Given the description of an element on the screen output the (x, y) to click on. 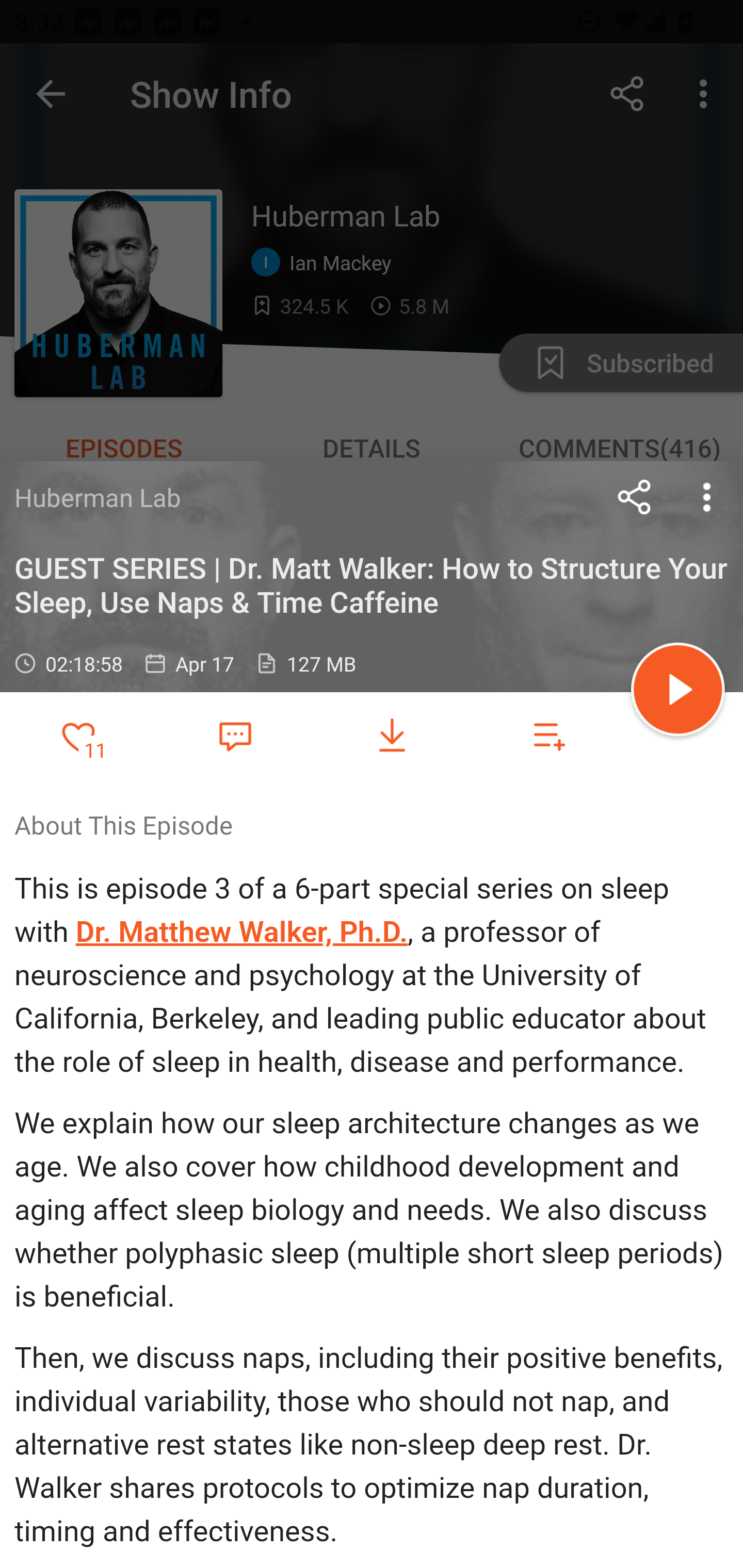
Share (634, 496)
more options (706, 496)
Play (677, 692)
Favorite (234, 735)
Add to Favorites (78, 735)
Download (391, 735)
Add to playlist (548, 735)
Dr. Matthew Walker, Ph.D. (241, 932)
